Given the description of an element on the screen output the (x, y) to click on. 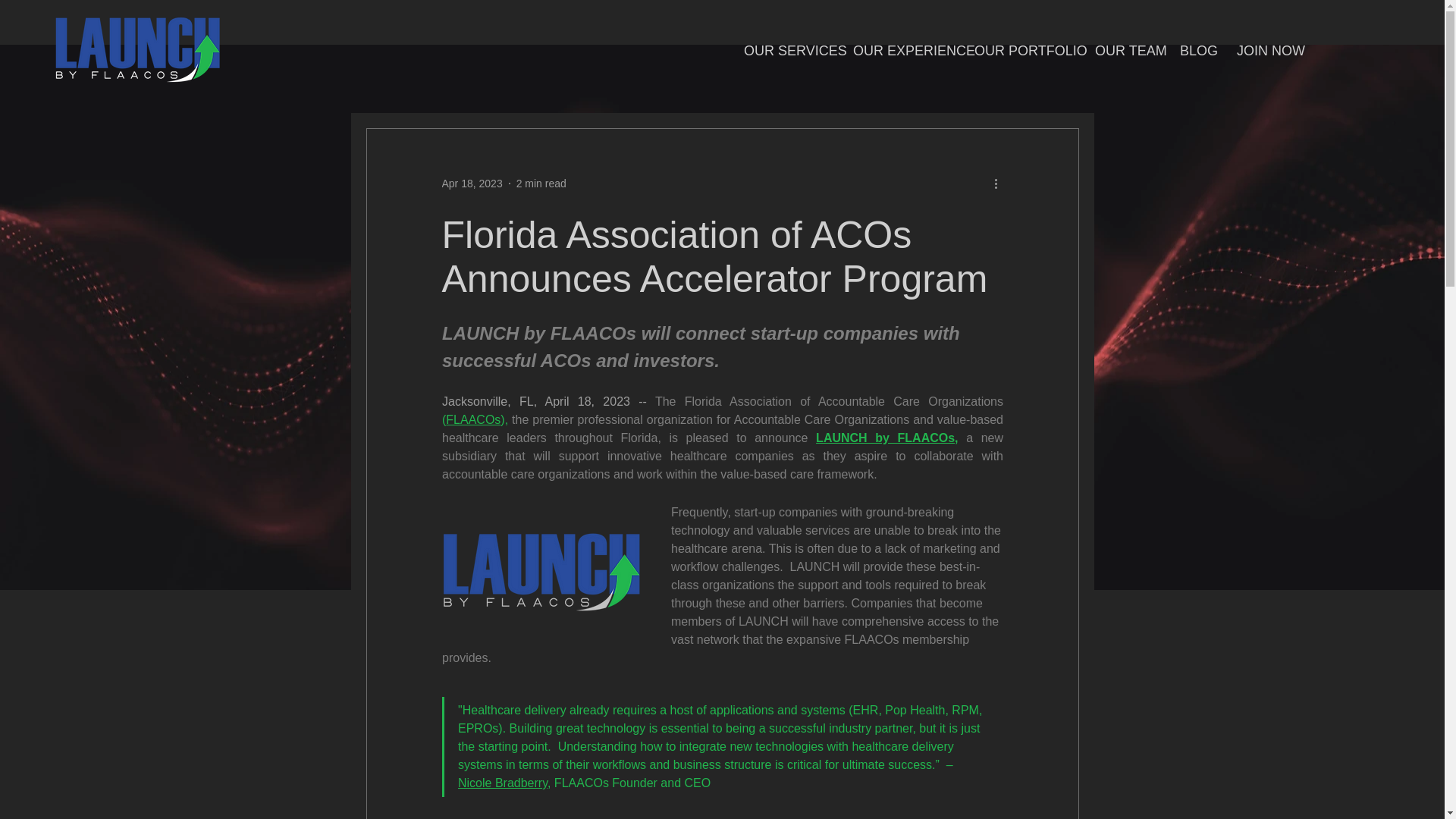
BLOG (1197, 50)
JOIN NOW (1267, 50)
OUR TEAM (1126, 50)
OUR PORTFOLIO (1022, 50)
Apr 18, 2023 (471, 183)
2 min read (541, 183)
FLAACOs (472, 419)
LAUNCH by FLAACOs (885, 437)
OUR EXPERIENCE (901, 50)
Nicole Bradberry (502, 782)
